Given the description of an element on the screen output the (x, y) to click on. 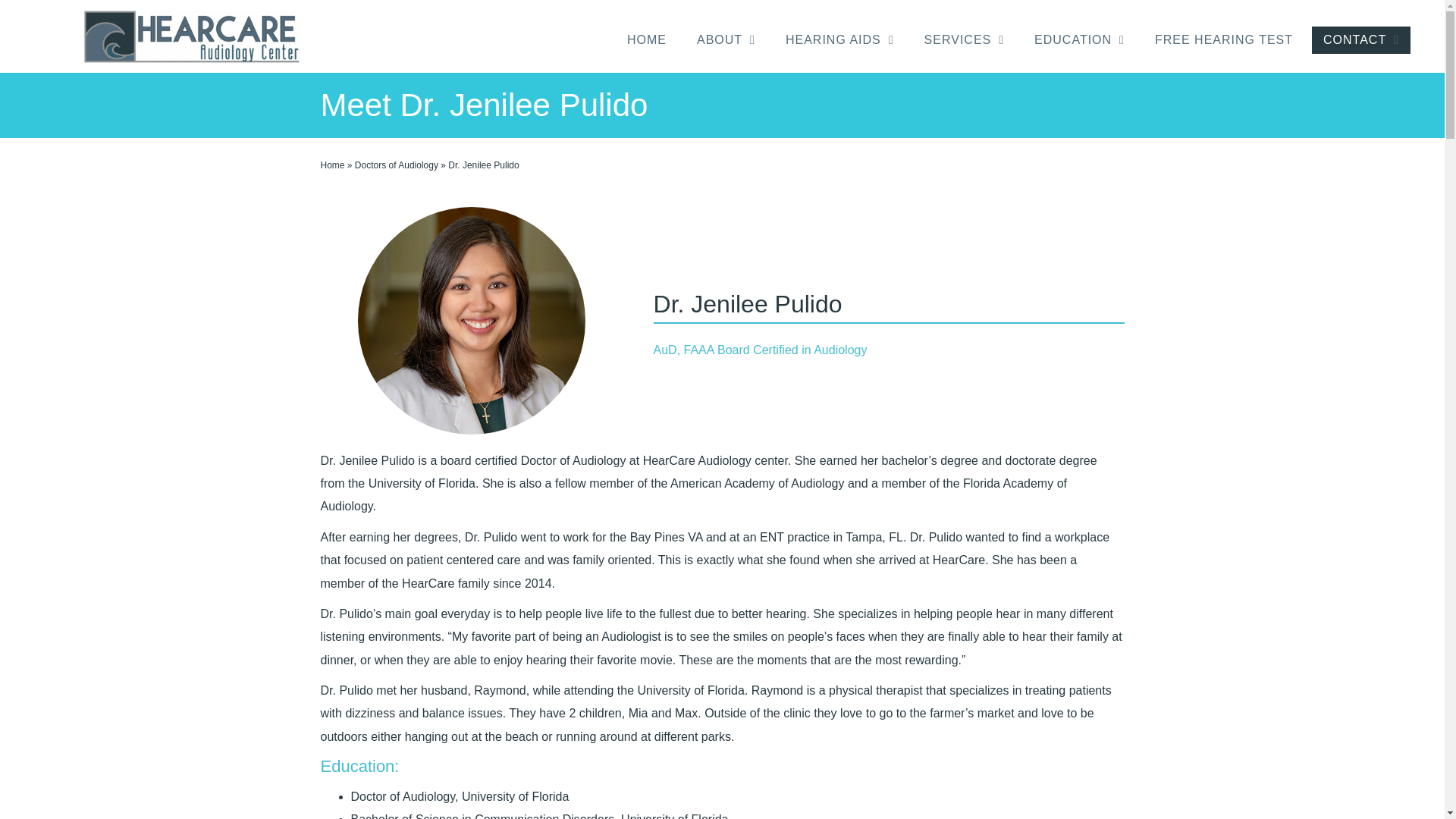
HOME (646, 40)
HearCare logo (191, 35)
EDUCATION (1079, 40)
FREE HEARING TEST (1223, 40)
ABOUT (726, 40)
CONTACT (1360, 40)
HEARING AIDS (839, 40)
SERVICES (963, 40)
